Given the description of an element on the screen output the (x, y) to click on. 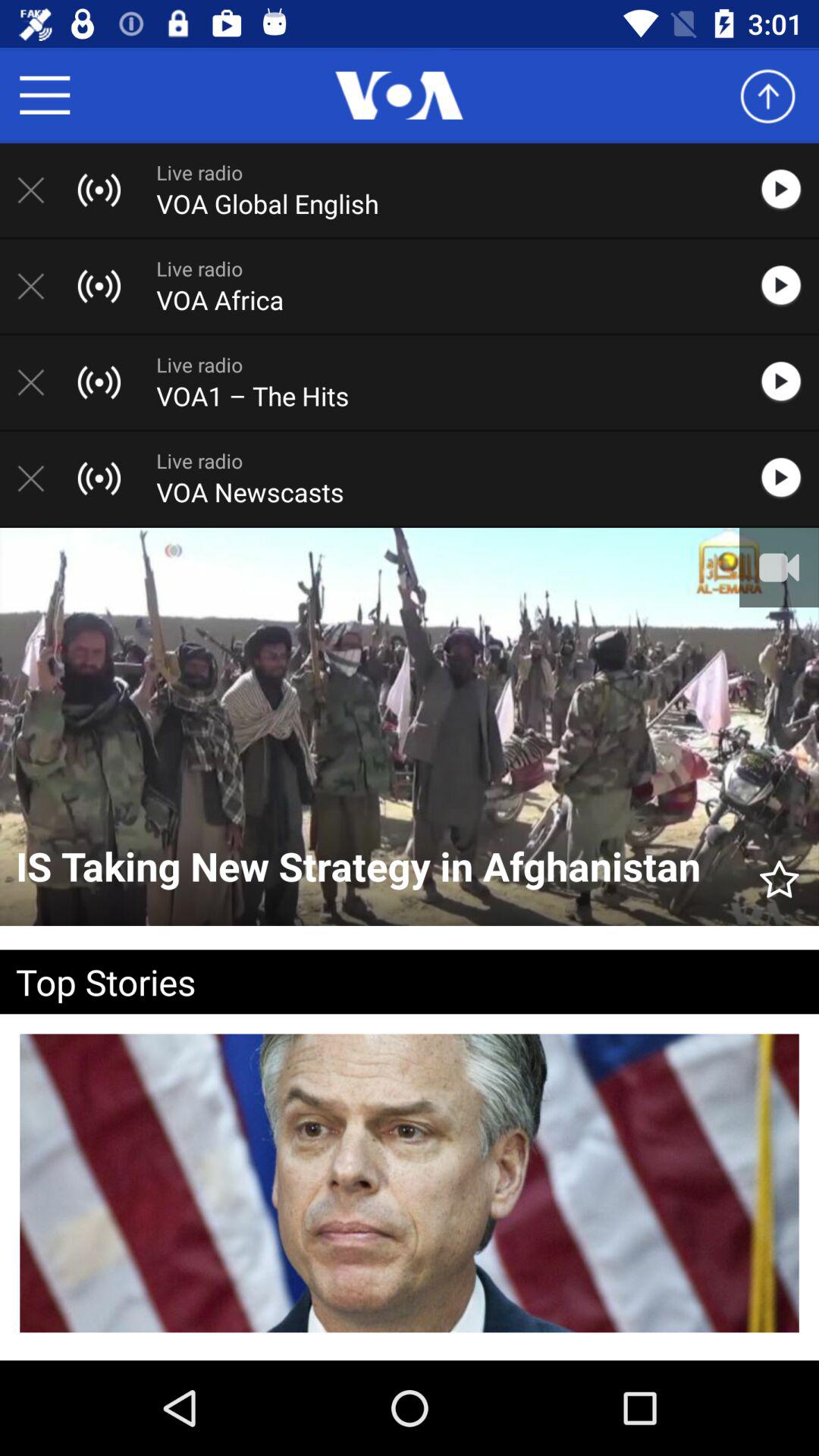
tap icon above top stories item (779, 872)
